Given the description of an element on the screen output the (x, y) to click on. 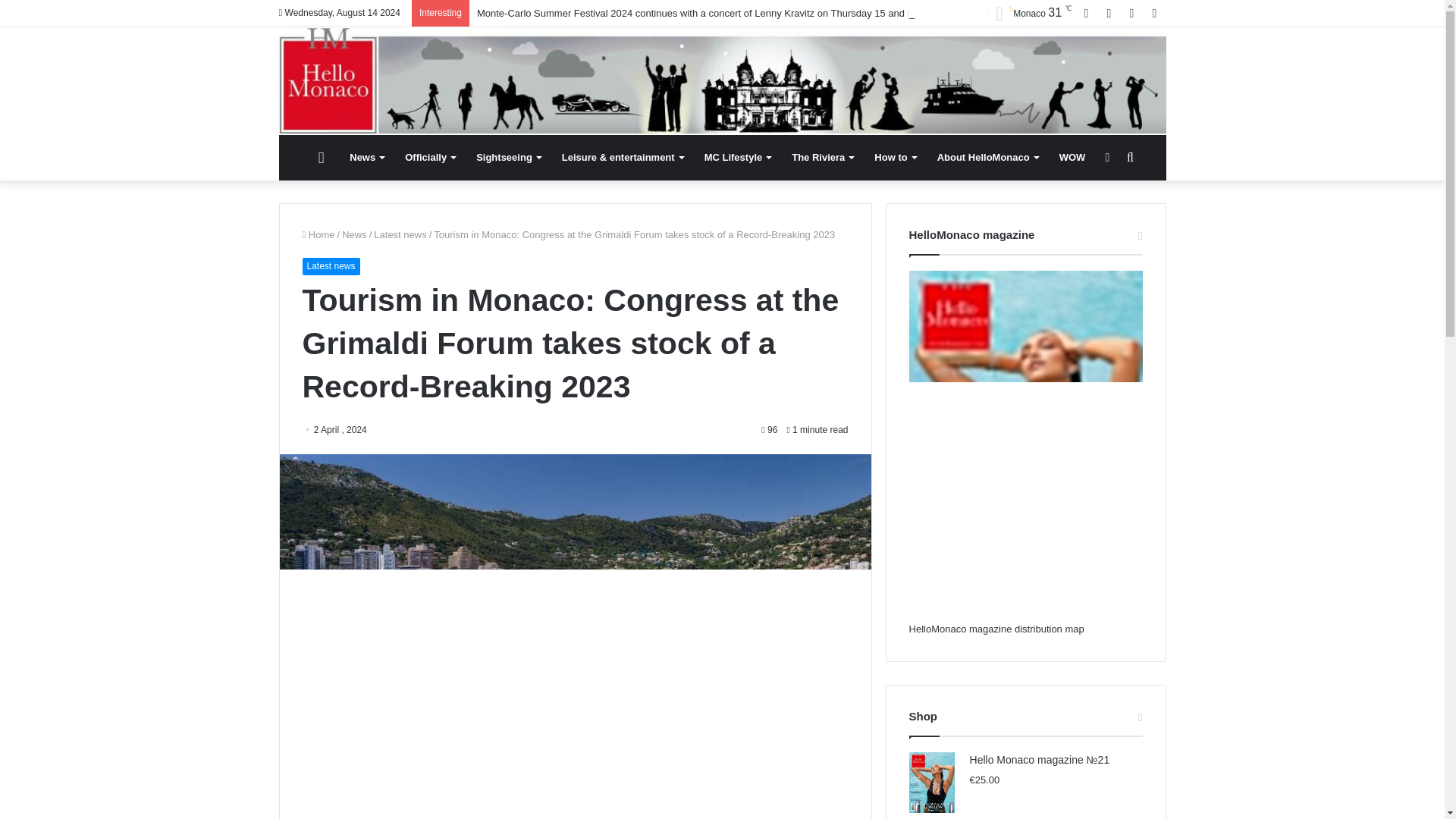
News (366, 157)
MC Lifestyle (737, 157)
Officially (429, 157)
Sightseeing (508, 157)
HelloMonaco (722, 80)
Scattered Clouds (1027, 13)
